Given the description of an element on the screen output the (x, y) to click on. 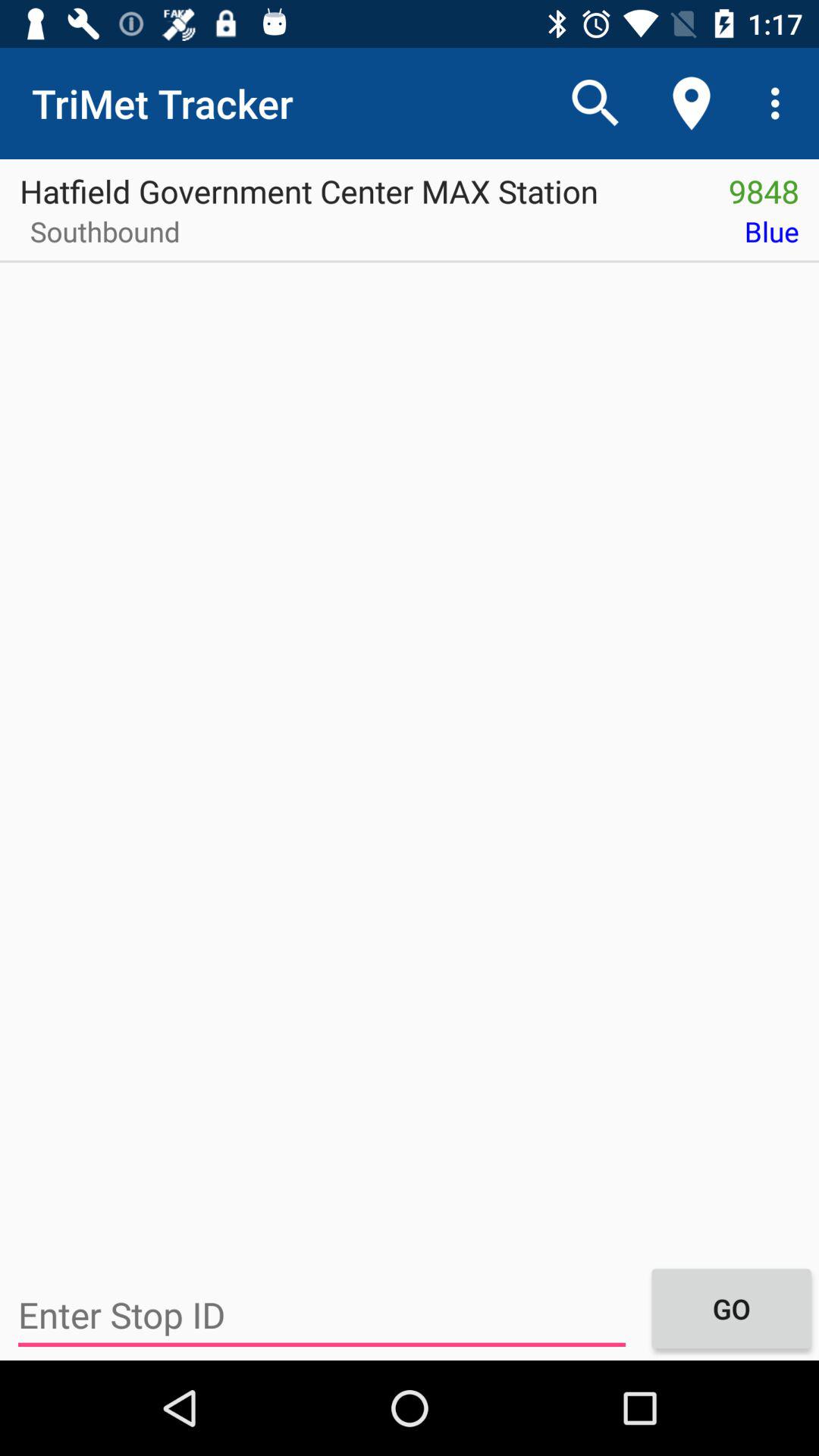
click item below the southbound (321, 1315)
